Given the description of an element on the screen output the (x, y) to click on. 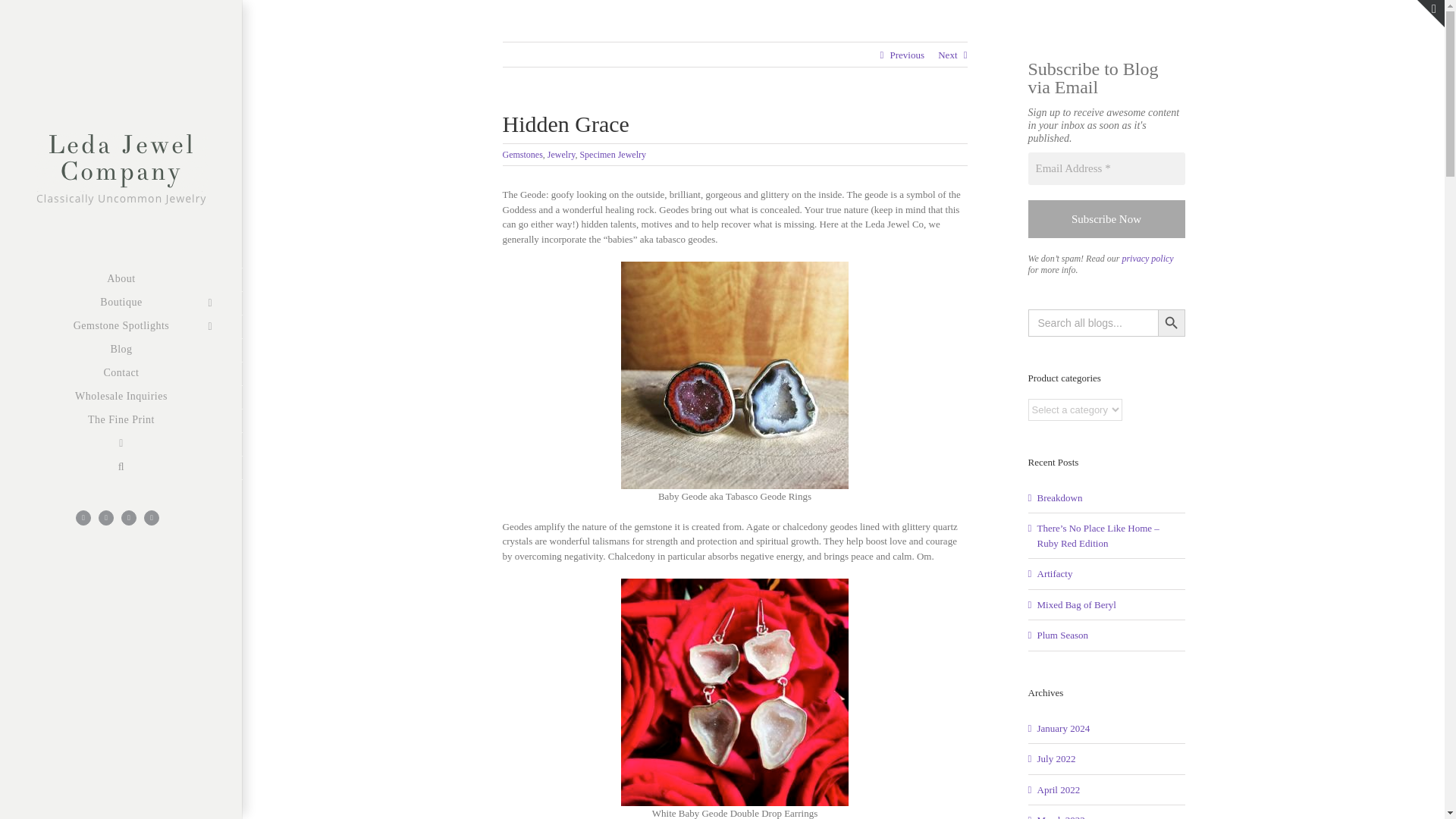
Twitter (128, 517)
Subscribe Now (1106, 219)
Contact (121, 373)
The Fine Print (121, 421)
Facebook (82, 517)
Pinterest (106, 517)
Instagram (151, 517)
Blog (121, 350)
About (121, 279)
Wholesale Inquiries (121, 397)
